Given the description of an element on the screen output the (x, y) to click on. 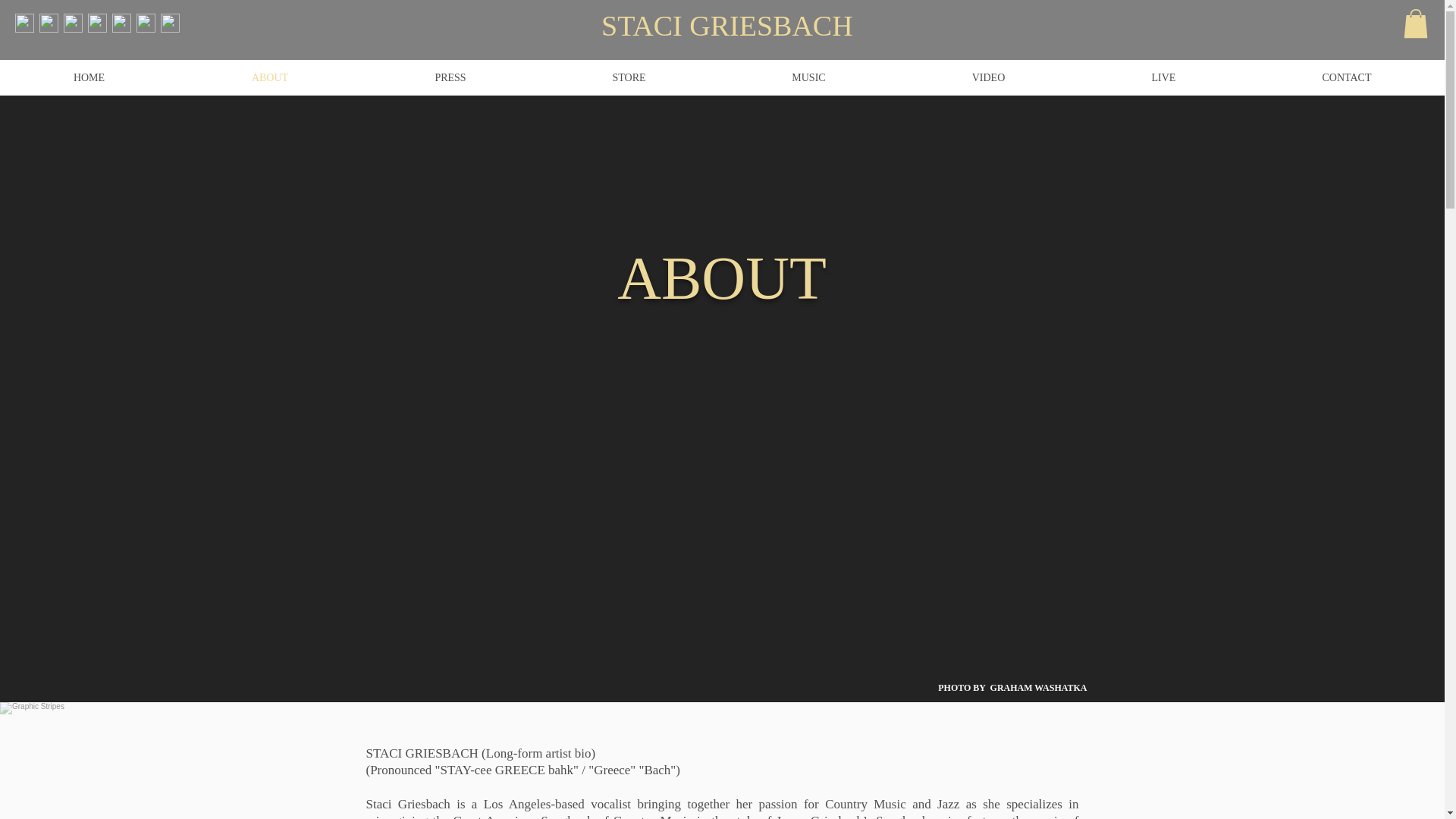
MUSIC (808, 76)
ABOUT (269, 76)
PRESS (449, 76)
HOME (88, 76)
STORE (628, 76)
VIDEO (988, 76)
LIVE (1163, 76)
